Given the description of an element on the screen output the (x, y) to click on. 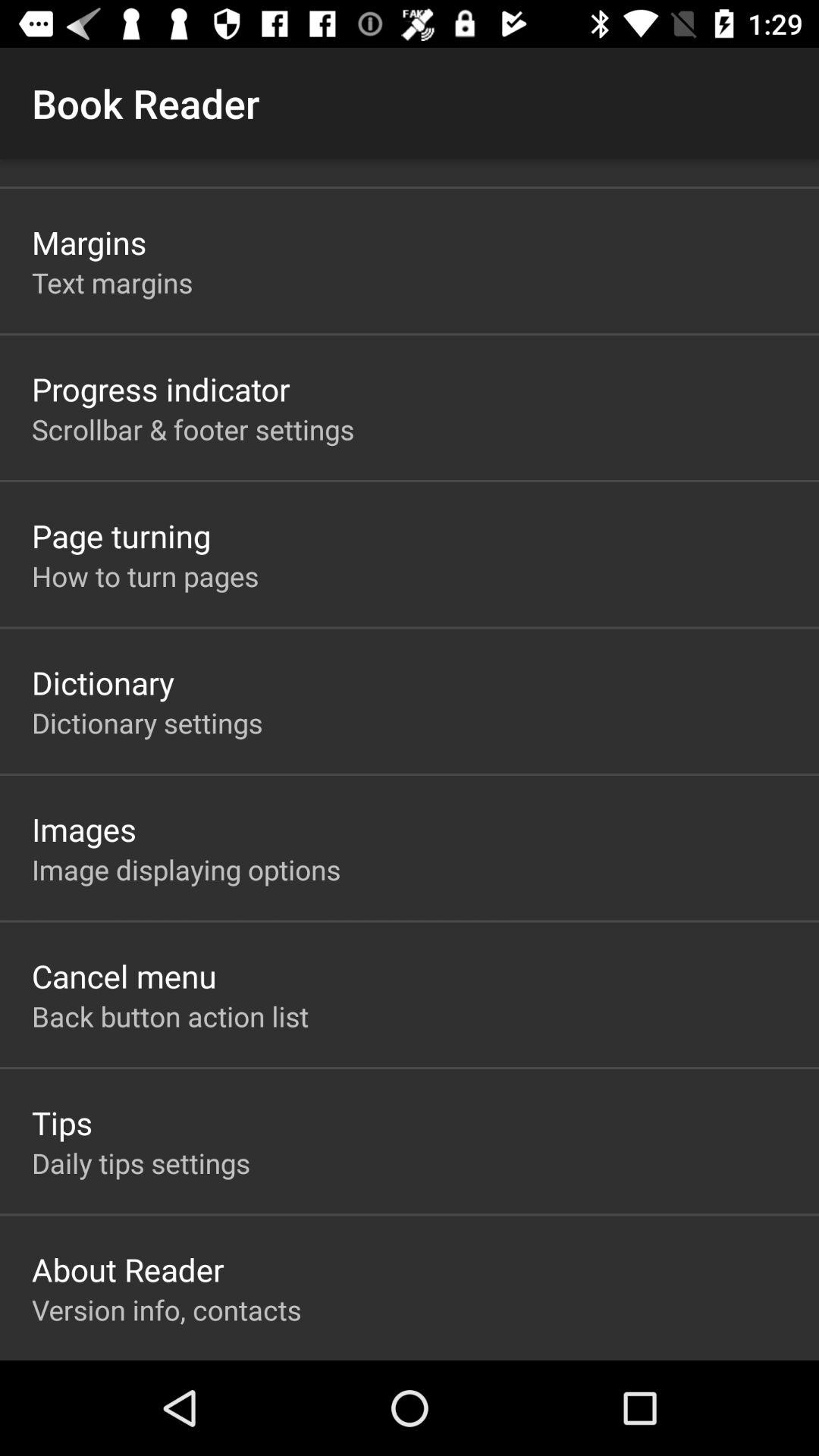
scroll to the daily tips settings icon (140, 1162)
